Given the description of an element on the screen output the (x, y) to click on. 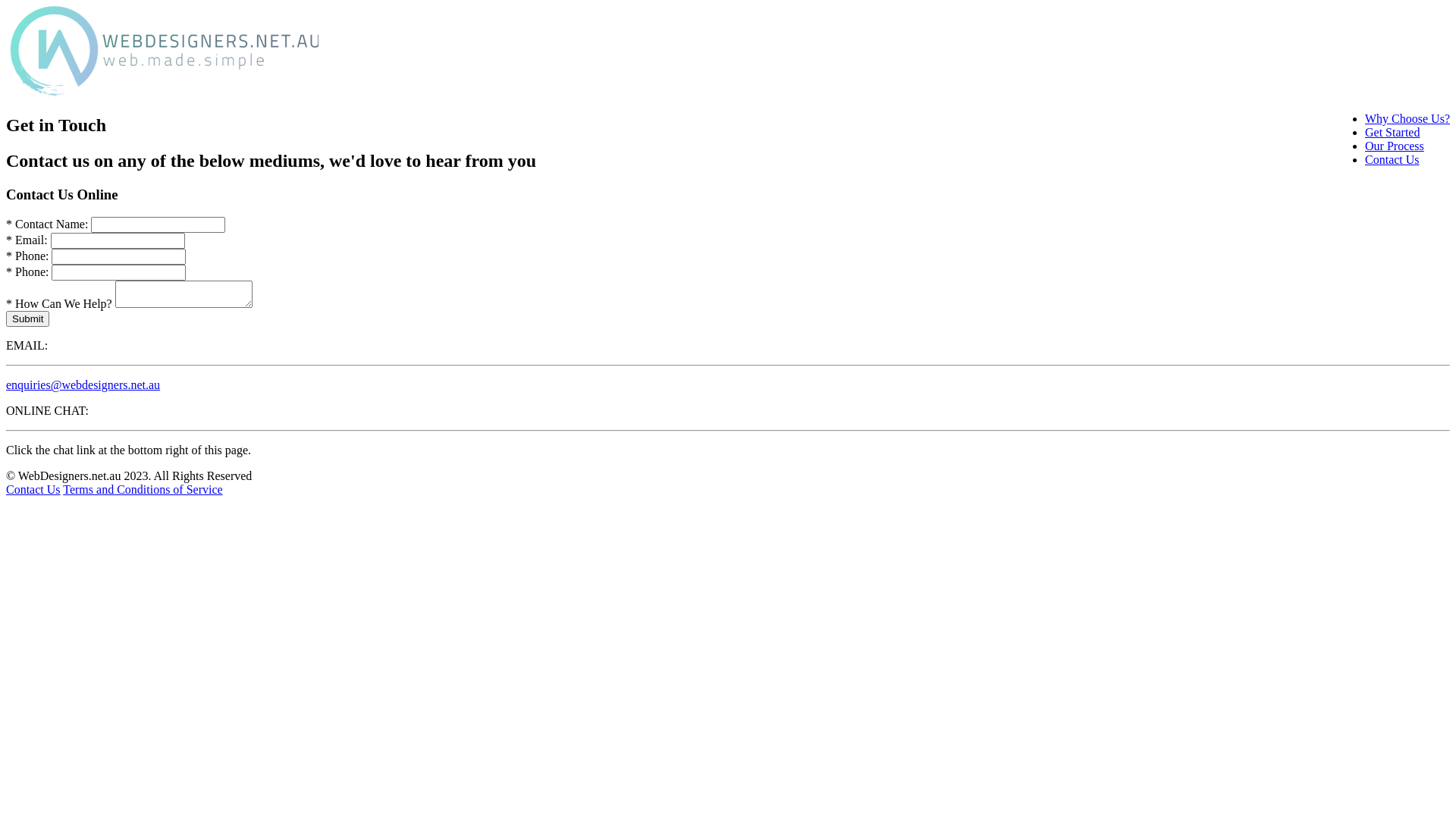
Submit Element type: text (27, 318)
enquiries@webdesigners.net.au Element type: text (83, 384)
Contact Us Element type: text (1392, 159)
Contact Us Element type: text (33, 489)
Terms and Conditions of Service Element type: text (142, 489)
Why Choose Us? Element type: text (1407, 118)
Get Started Element type: text (1392, 131)
Our Process Element type: text (1394, 145)
